Given the description of an element on the screen output the (x, y) to click on. 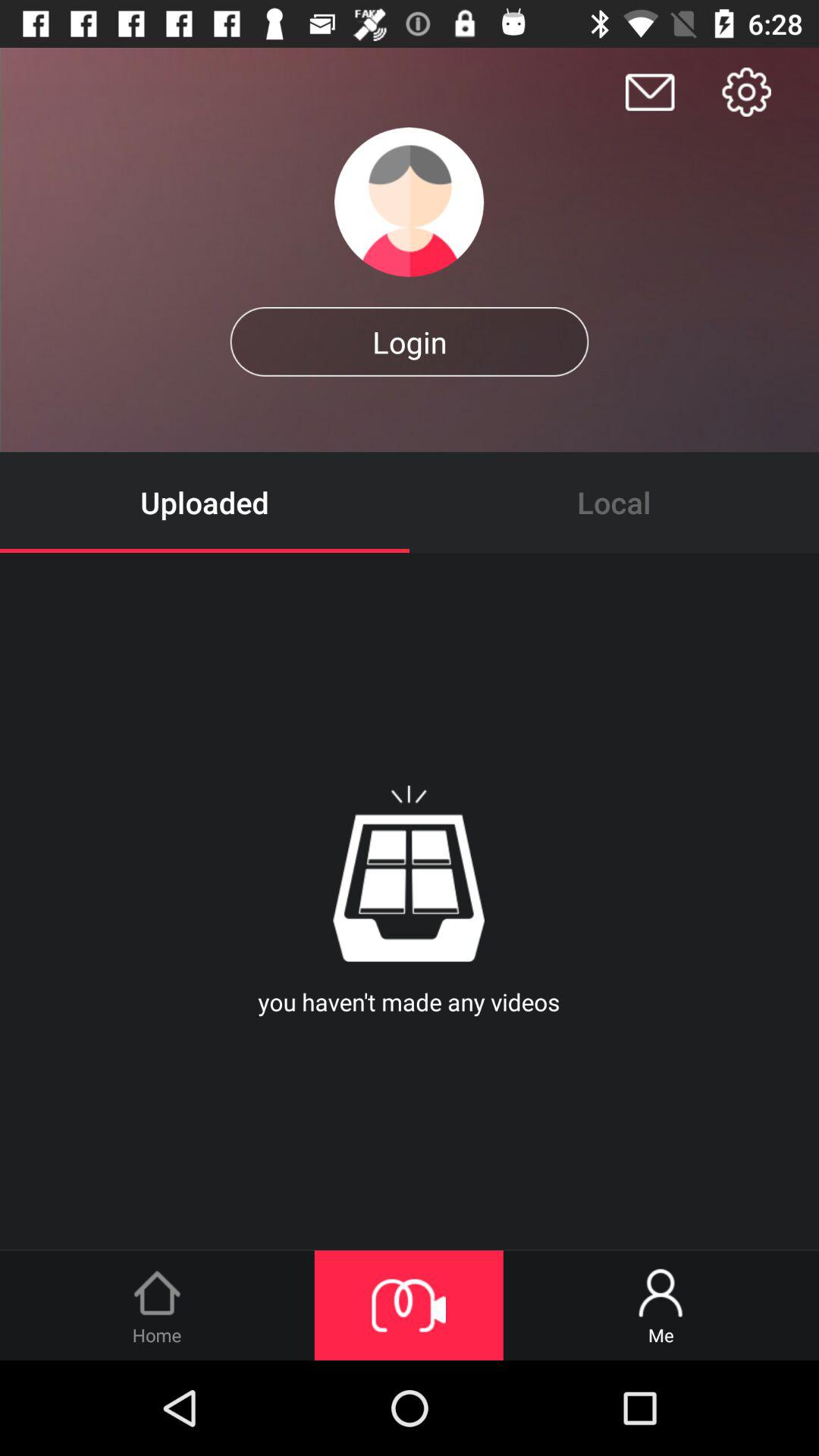
compose message (649, 91)
